Given the description of an element on the screen output the (x, y) to click on. 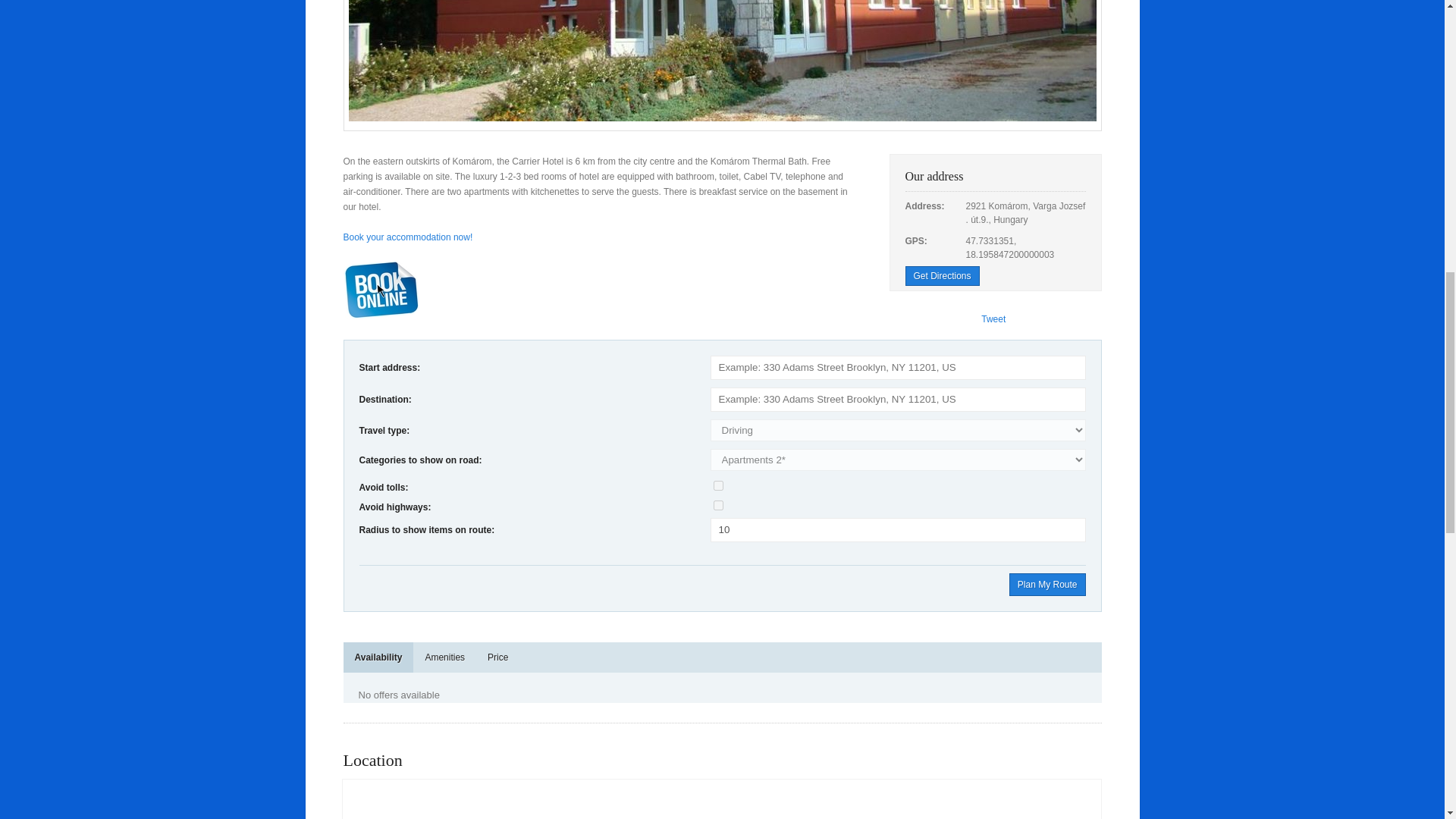
10 (898, 529)
highways (718, 505)
tolls (718, 485)
Get Directions (942, 275)
